Given the description of an element on the screen output the (x, y) to click on. 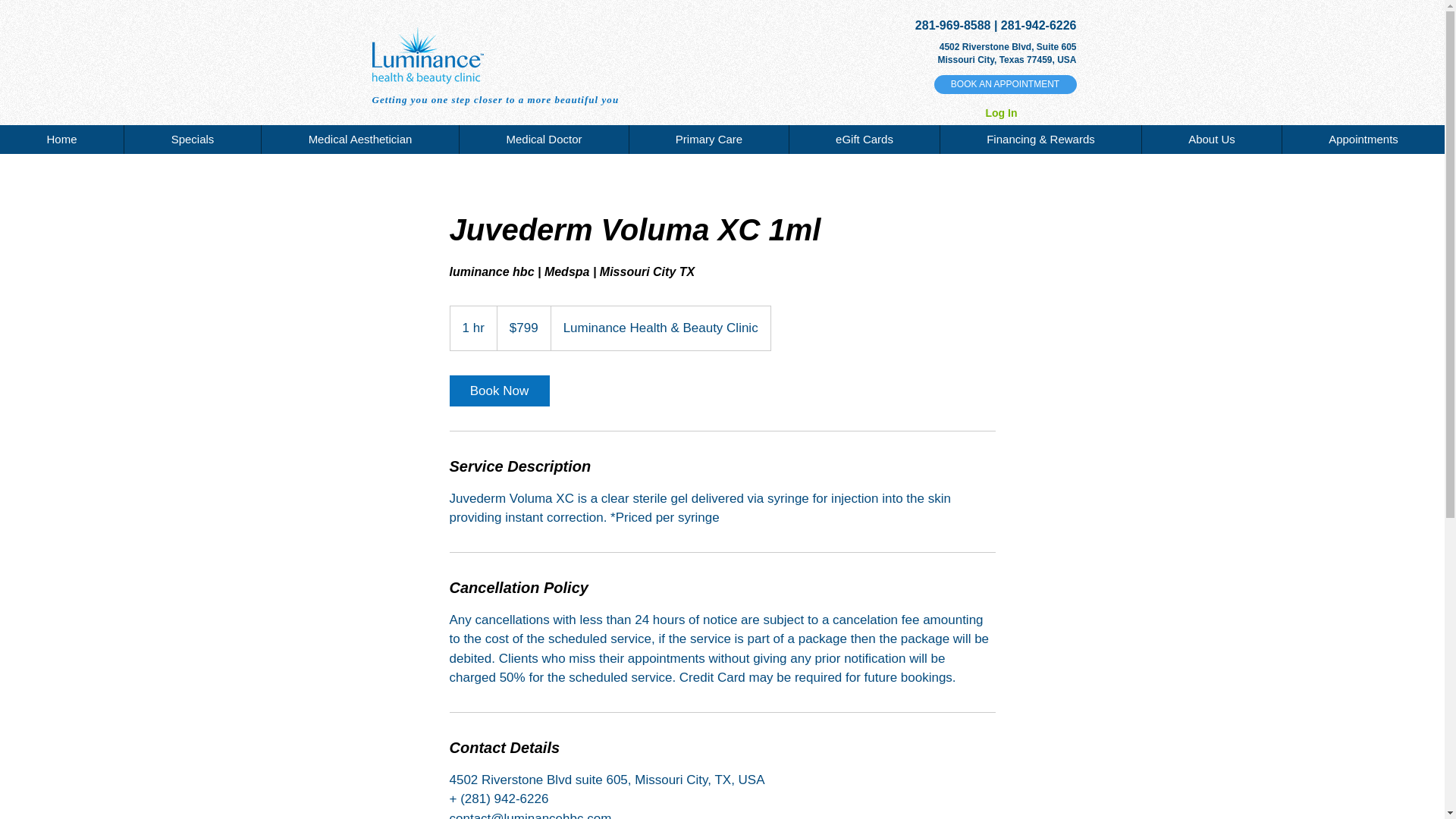
Luminancehbc Medical spa Houston TX Sugar Land TX  (427, 55)
281-942-6226 (1039, 24)
281-969-8588 (953, 24)
Home (61, 139)
Specials (191, 139)
BOOK AN APPOINTMENT (1005, 84)
Log In (1001, 113)
Primary Care (708, 139)
